Given the description of an element on the screen output the (x, y) to click on. 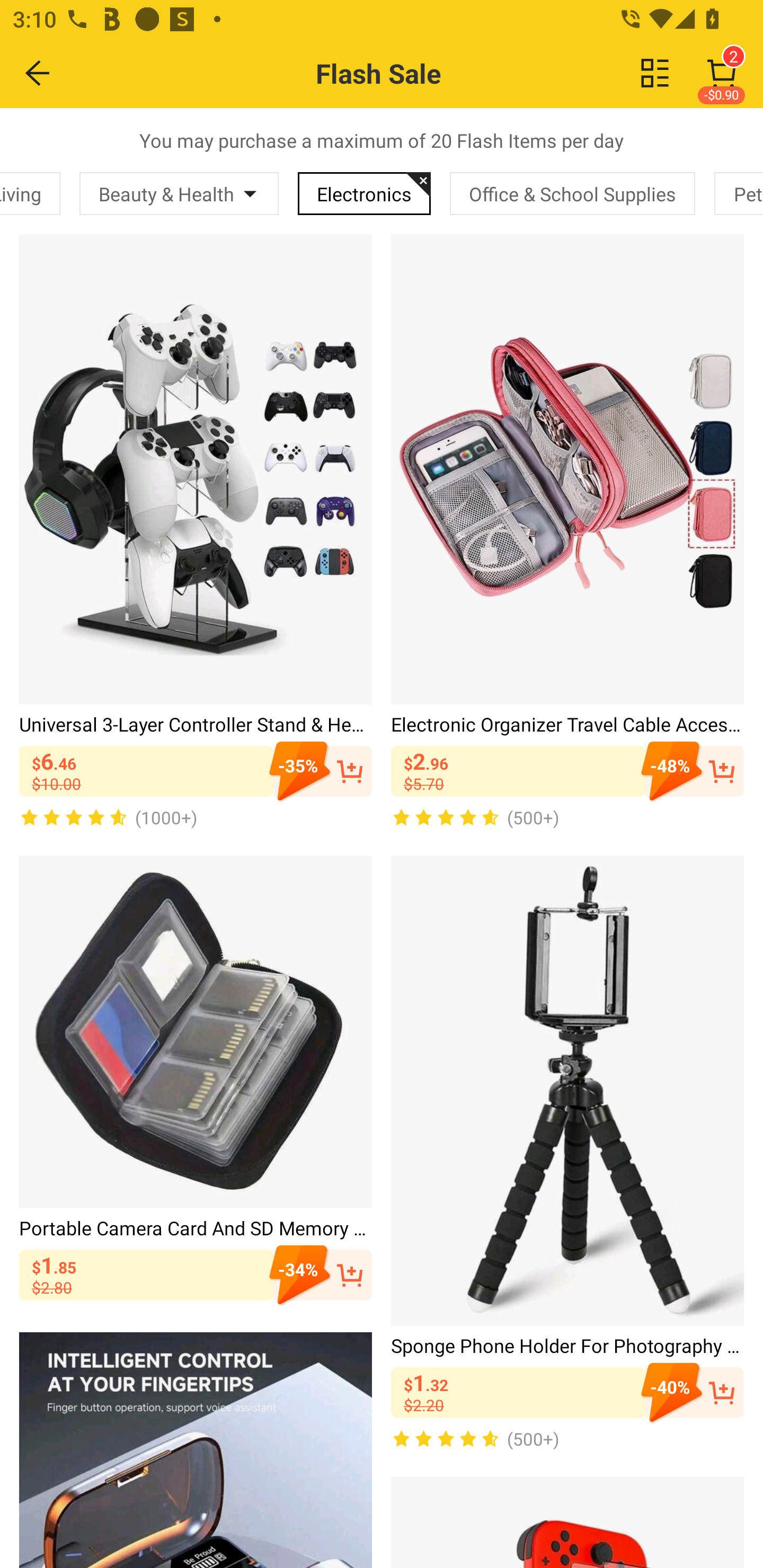
Flash Sale change view 2 -$0.90 (419, 72)
2 -$0.90 (721, 72)
change view (654, 72)
BACK (38, 72)
Home & Living (30, 193)
Beauty & Health (178, 193)
Electronics (364, 193)
Office & School Supplies (572, 193)
Pet Supplies (738, 193)
